Given the description of an element on the screen output the (x, y) to click on. 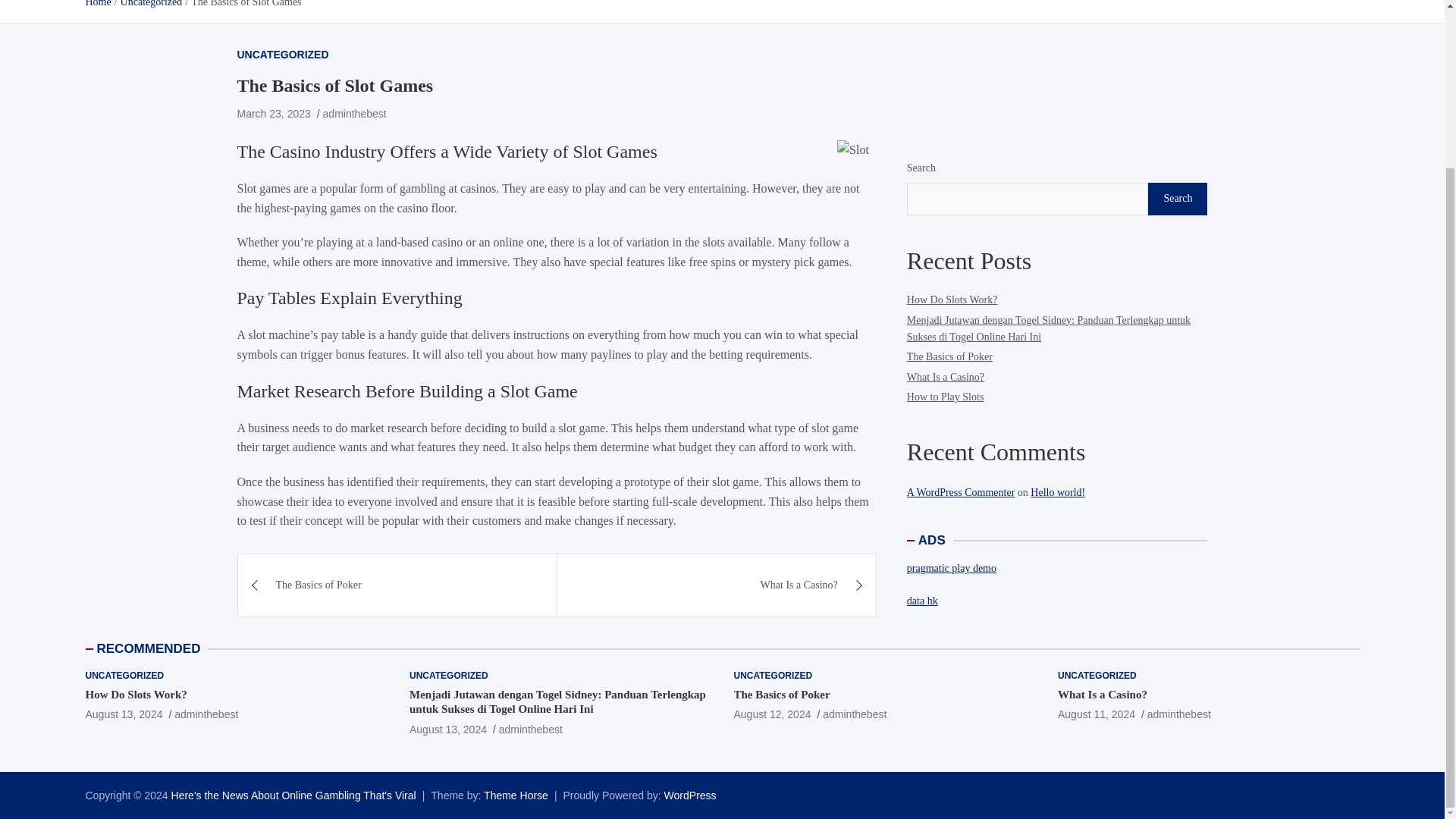
UNCATEGORIZED (448, 676)
August 13, 2024 (122, 714)
UNCATEGORIZED (772, 676)
adminthebest (854, 714)
Here's the News About Online Gambling That's Viral (293, 795)
data hk (922, 577)
The Basics of Poker (771, 714)
What Is a Casino? (716, 585)
Theme Horse (515, 795)
